Given the description of an element on the screen output the (x, y) to click on. 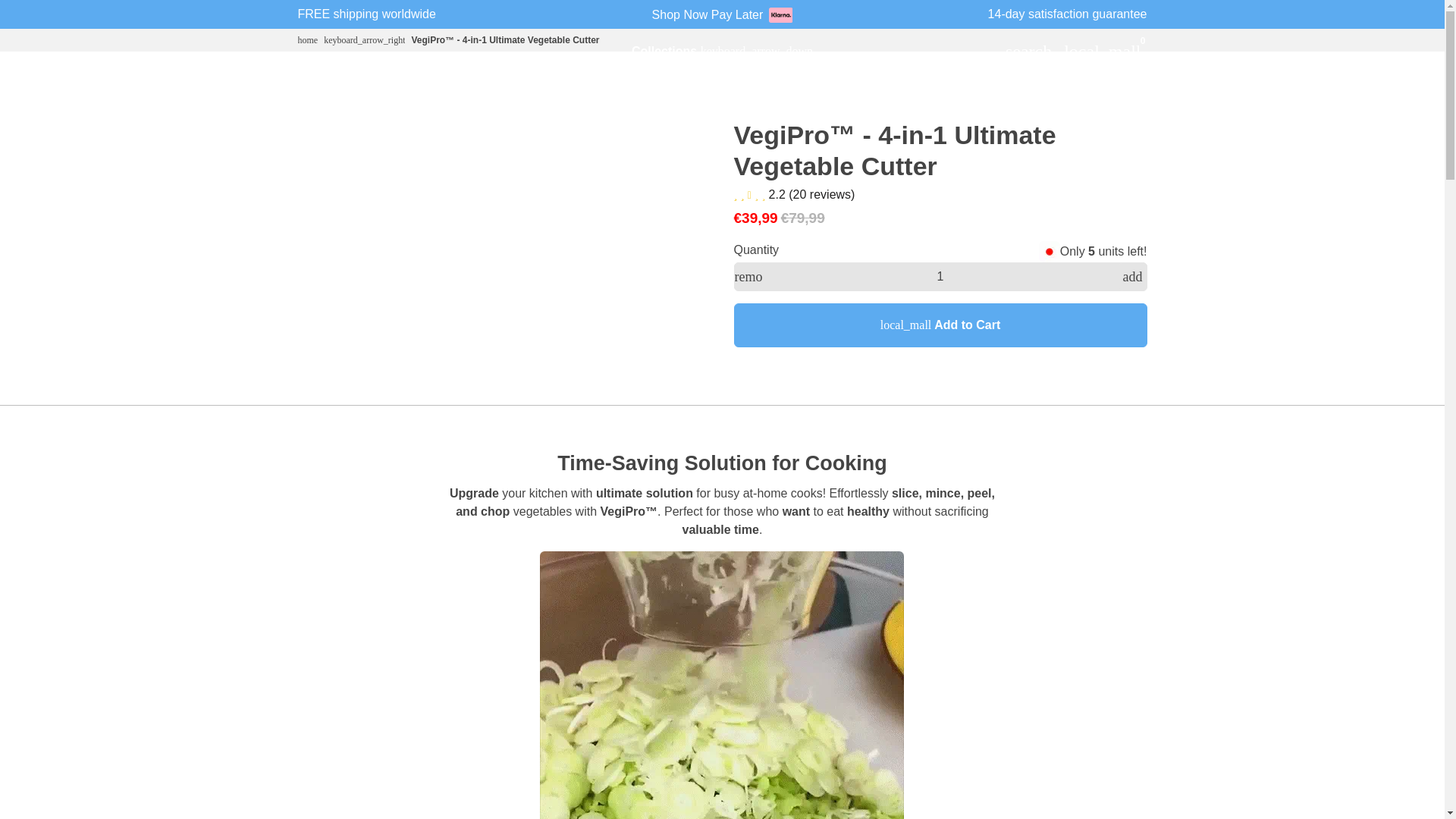
Reduce item quantity by one (747, 276)
Cart (1102, 51)
Search (1028, 51)
Increase item quantity by one (1132, 276)
Elevaeth (307, 40)
1 (940, 276)
